Given the description of an element on the screen output the (x, y) to click on. 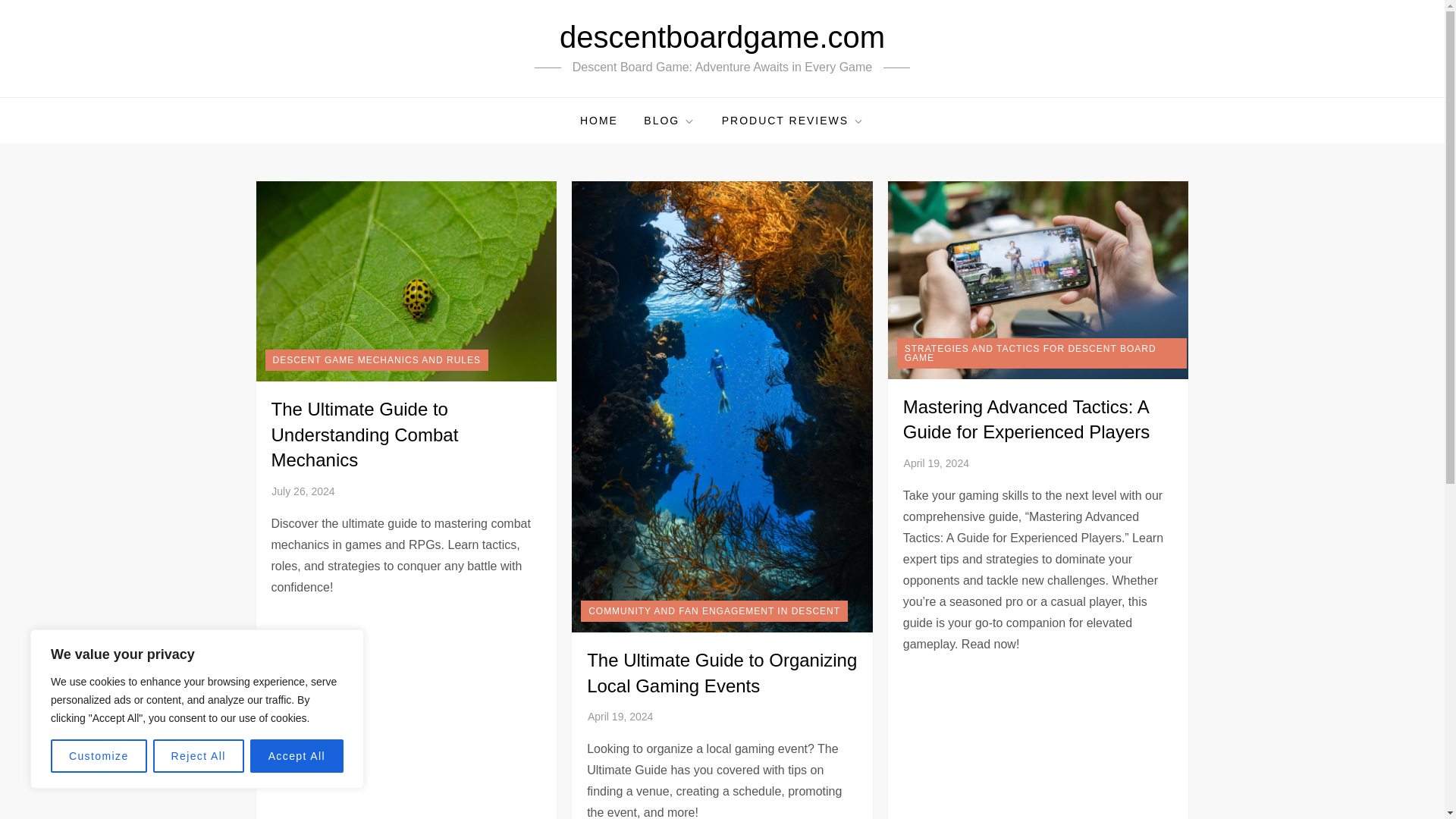
BLOG (668, 120)
HOME (598, 120)
July 26, 2024 (302, 491)
Accept All (296, 756)
Customize (98, 756)
The Ultimate Guide to Understanding Combat Mechanics (364, 434)
descentboardgame.com (722, 37)
COMMUNITY AND FAN ENGAGEMENT IN DESCENT (713, 610)
DESCENT GAME MECHANICS AND RULES (376, 360)
The Ultimate Guide to Organizing Local Gaming Events (721, 673)
